Given the description of an element on the screen output the (x, y) to click on. 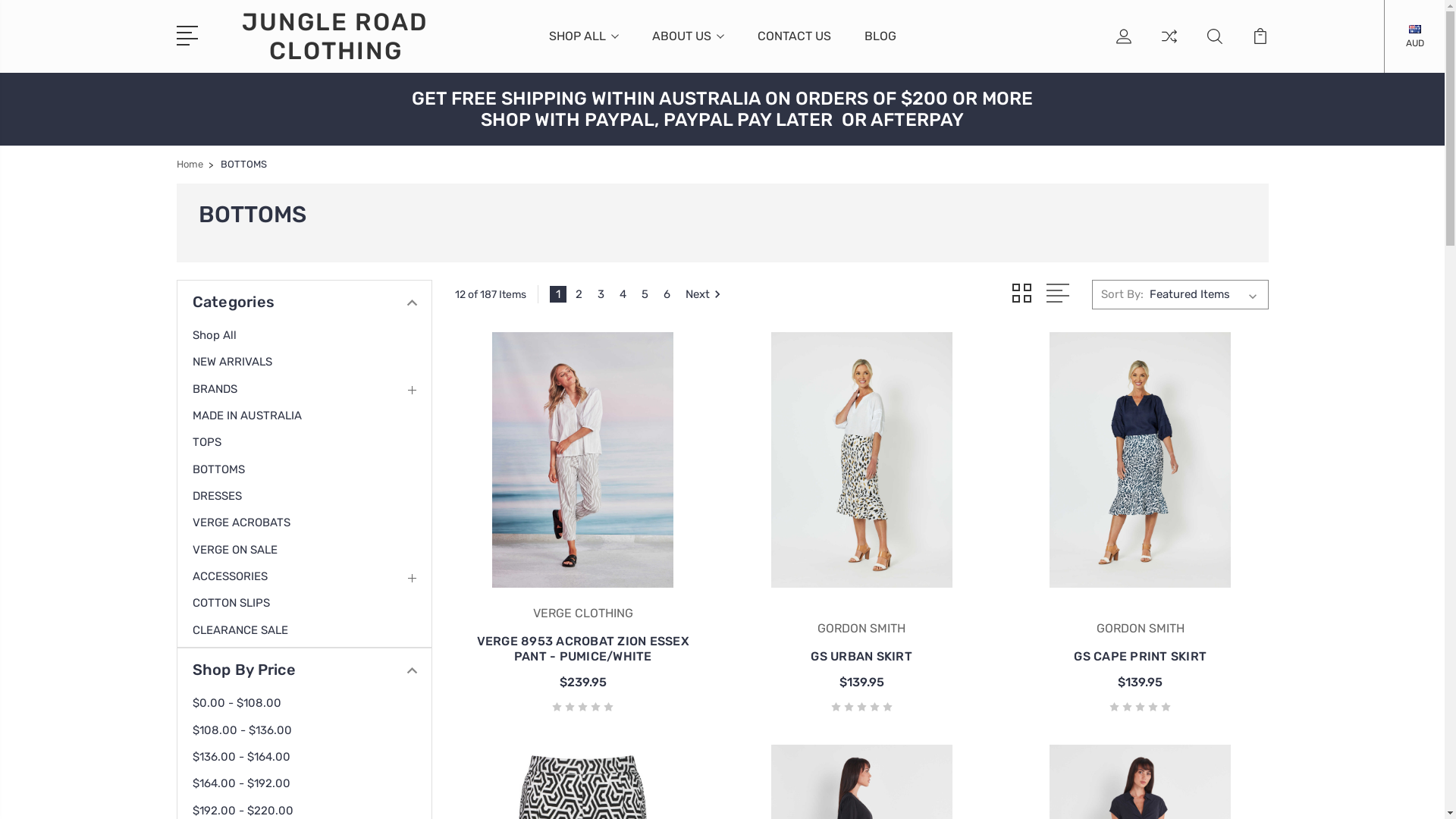
$164.00 - $192.00 Element type: text (250, 783)
BOTTOMS Element type: text (227, 469)
$0.00 - $108.00 Element type: text (246, 702)
$192.00 - $220.00 Element type: text (252, 810)
AUD Element type: text (1414, 41)
3 Element type: text (600, 293)
COTTON SLIPS Element type: text (240, 602)
CLEARANCE SALE Element type: text (249, 630)
TOPS Element type: text (216, 441)
JUNGLE ROAD CLOTHING Element type: text (334, 36)
GORDON SMITH LINEN URABNSKIRT IN ANIMAL PRINT Element type: hover (860, 459)
1 Element type: text (557, 293)
6 Element type: text (666, 293)
BRANDS Element type: text (224, 388)
ABOUT US Element type: text (688, 44)
VERGE ACROBATS Element type: text (250, 522)
4 Element type: text (622, 293)
CONTACT US Element type: text (793, 44)
GS URBAN SKIRT Element type: text (861, 656)
ACCESSORIES Element type: text (239, 576)
NEW ARRIVALS Element type: text (241, 361)
Compare Element type: hover (1168, 44)
GS CAPE PRINT SKIRT Element type: text (1139, 656)
2 Element type: text (578, 293)
DRESSES Element type: text (226, 495)
BLOG Element type: text (880, 44)
5 Element type: text (644, 293)
$136.00 - $164.00 Element type: text (250, 756)
Next Element type: text (702, 293)
Home Element type: text (188, 163)
$108.00 - $136.00 Element type: text (251, 730)
VERGE ON SALE Element type: text (244, 549)
SHOP ALL Element type: text (583, 44)
GORDON SMITH LINEN CAPE PRINT SKIRT IN NAVY/WHITE Element type: hover (1139, 459)
Shop All Element type: text (223, 335)
MADE IN AUSTRALIA Element type: text (256, 415)
VERGE 8953 ACROBAT ZION ESSEX PANT - PUMICE/WHITE Element type: text (582, 648)
